Given the description of an element on the screen output the (x, y) to click on. 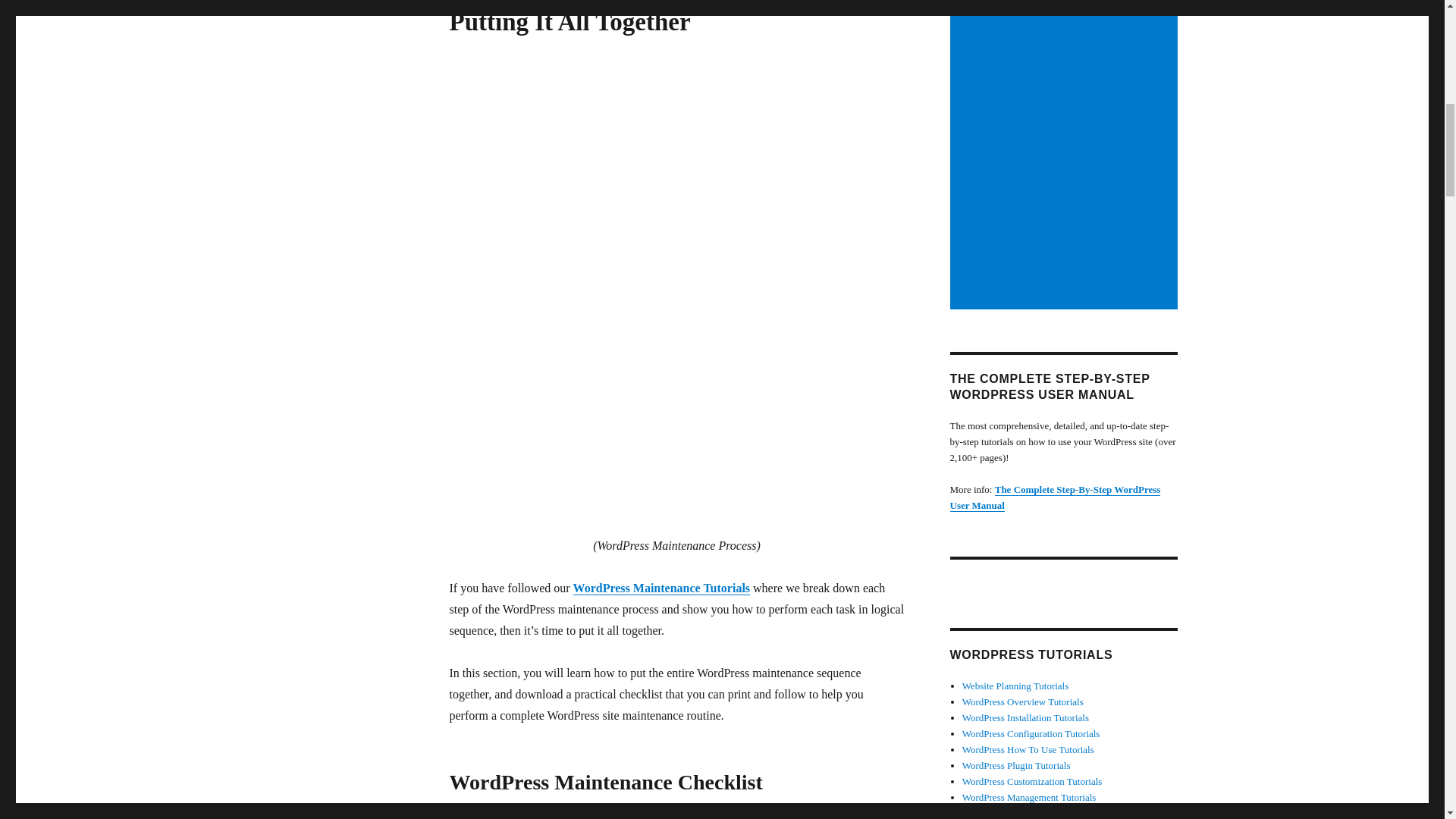
WordPress Maintenance Tutorials (662, 587)
